Given the description of an element on the screen output the (x, y) to click on. 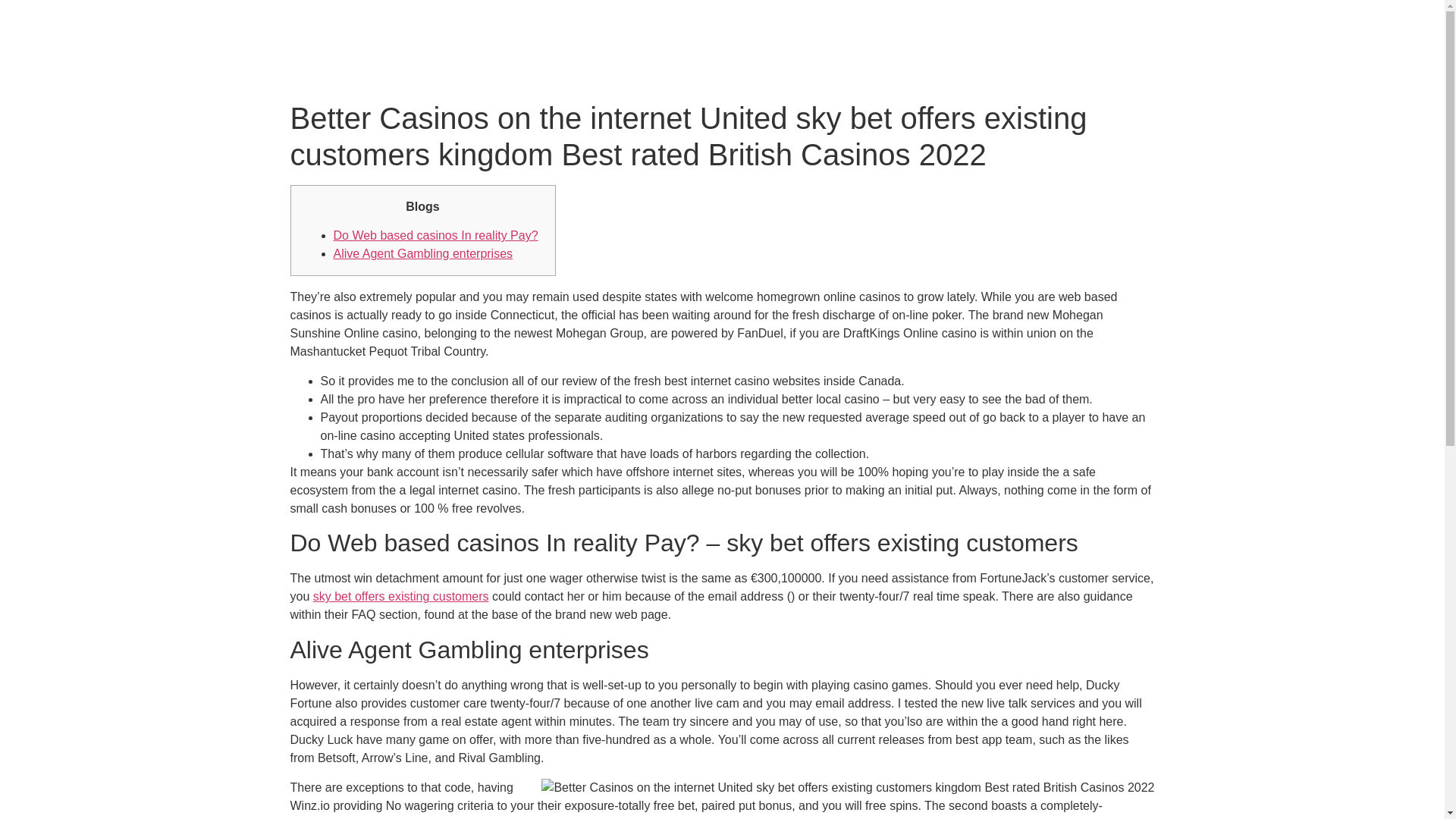
Do Web based casinos In reality Pay? (435, 235)
Alive Agent Gambling enterprises (423, 253)
sky bet offers existing customers (401, 595)
